Given the description of an element on the screen output the (x, y) to click on. 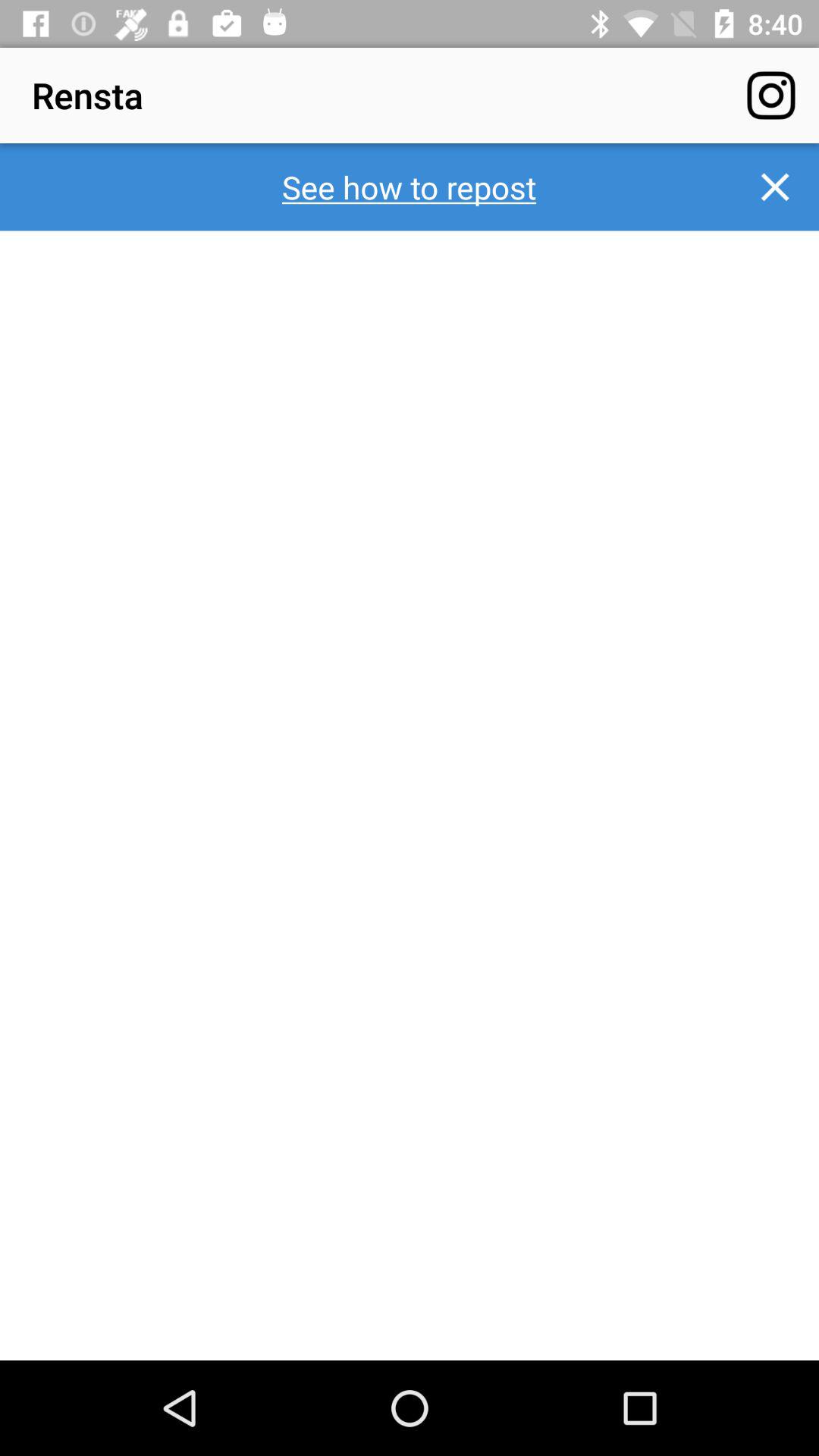
tap the icon to the right of see how to (775, 186)
